Given the description of an element on the screen output the (x, y) to click on. 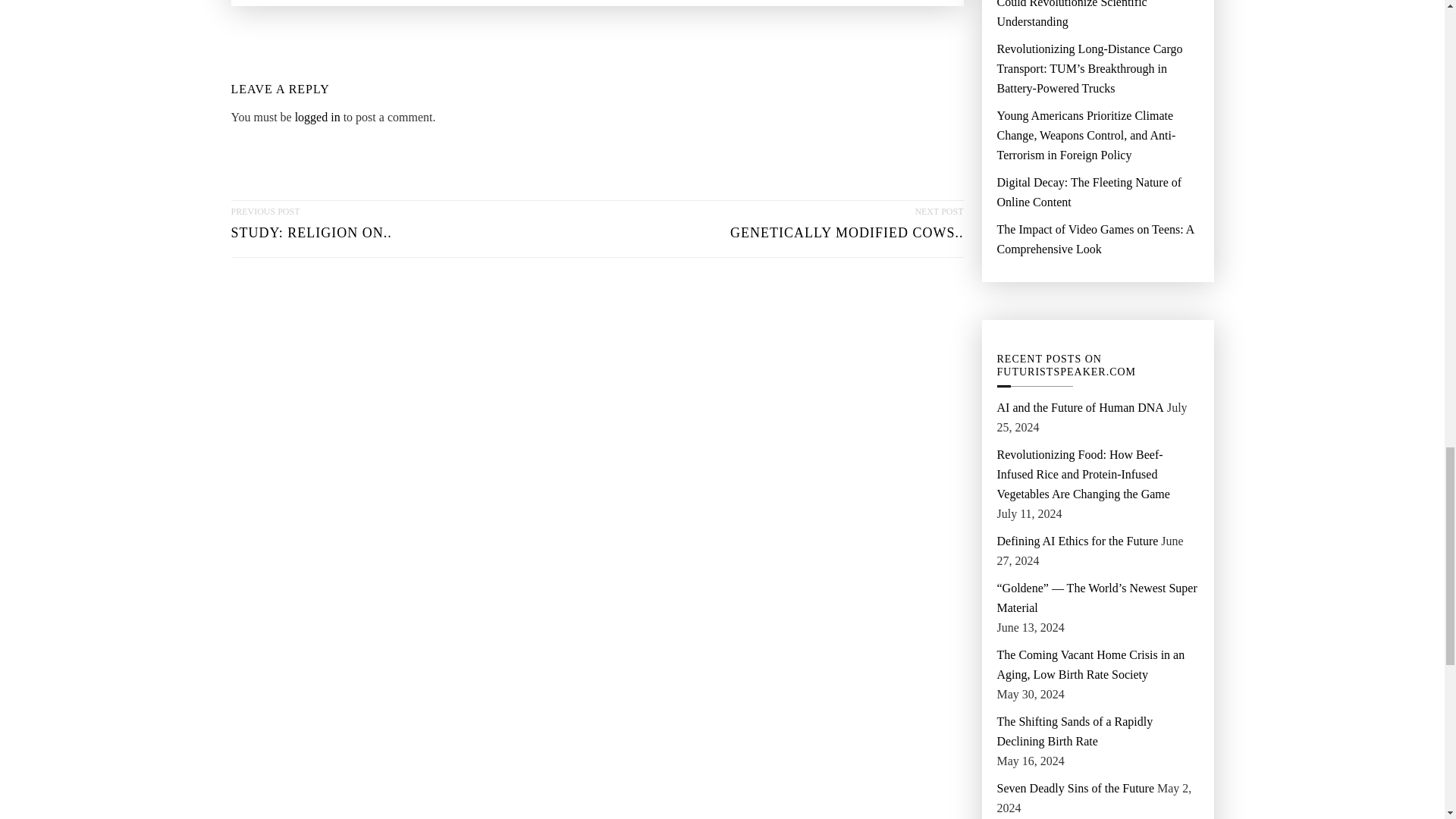
logged in (317, 117)
